Given the description of an element on the screen output the (x, y) to click on. 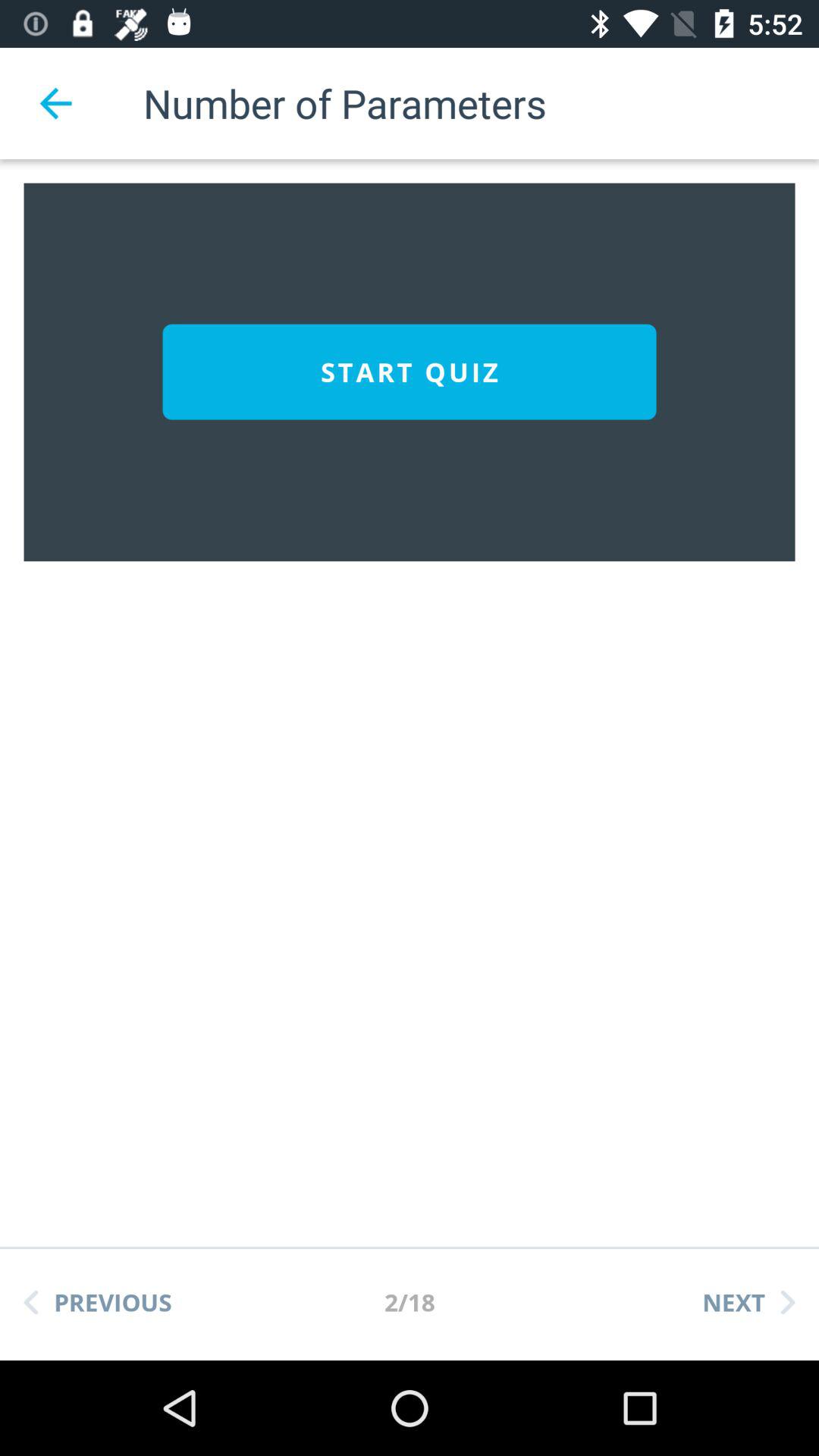
open the previous at the bottom left corner (97, 1302)
